Given the description of an element on the screen output the (x, y) to click on. 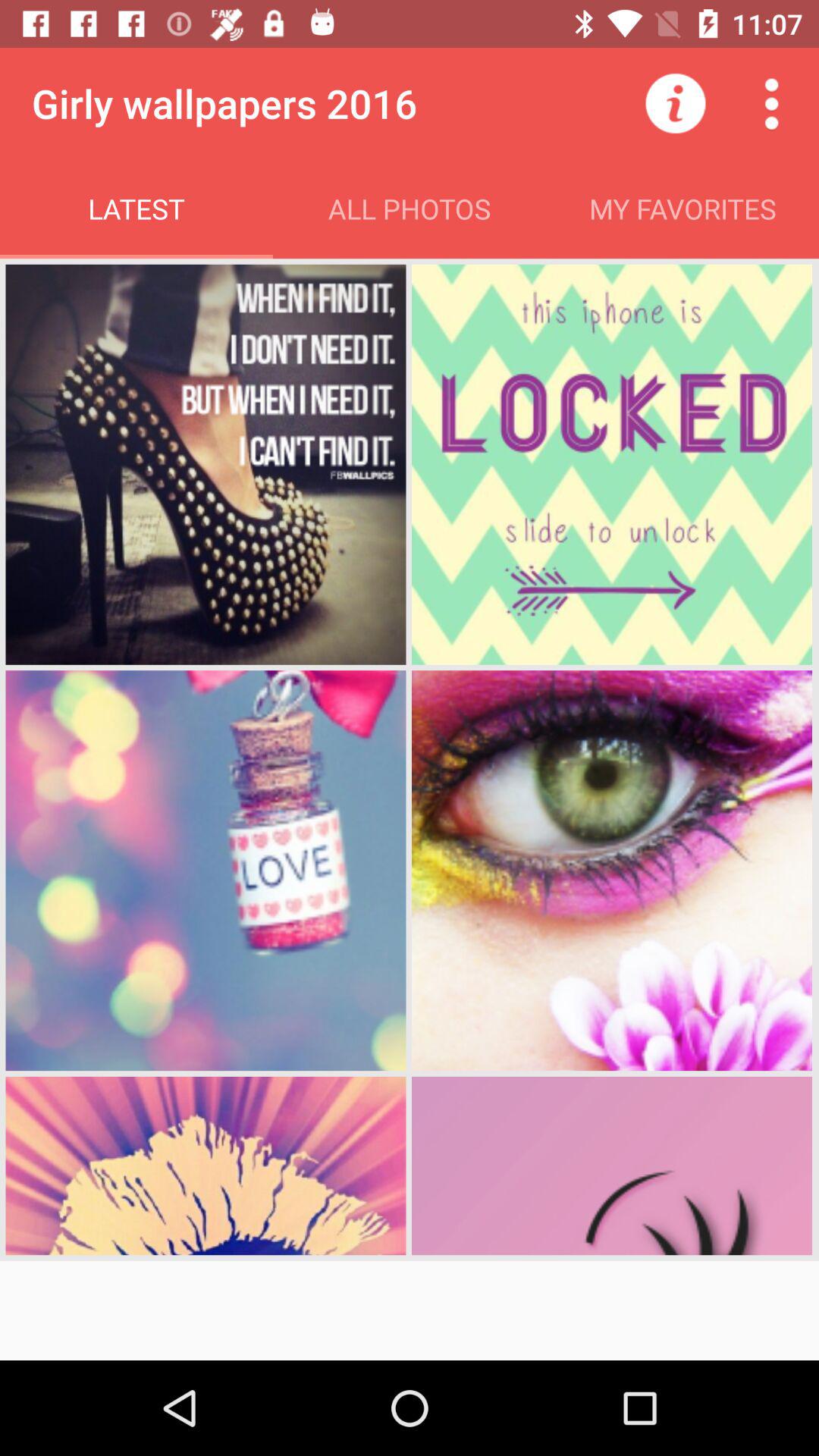
select the second image in second row (611, 869)
click on the menu button (771, 103)
select the 3rd pic love (205, 869)
